Given the description of an element on the screen output the (x, y) to click on. 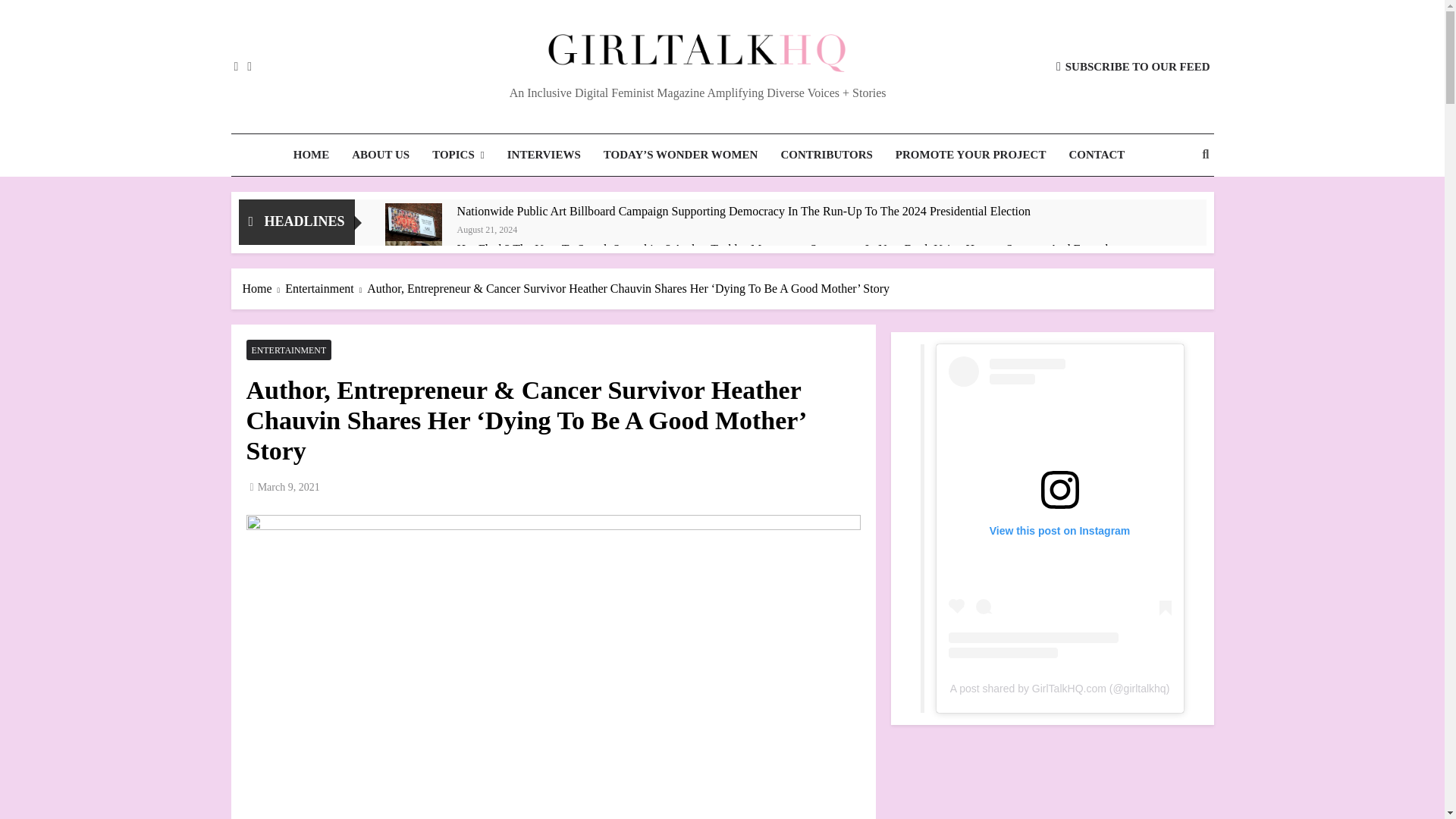
PROMOTE YOUR PROJECT (970, 154)
August 21, 2024 (487, 228)
INTERVIEWS (544, 154)
HOME (311, 154)
CONTACT (1096, 154)
GirlTalkHQ (520, 94)
